Given the description of an element on the screen output the (x, y) to click on. 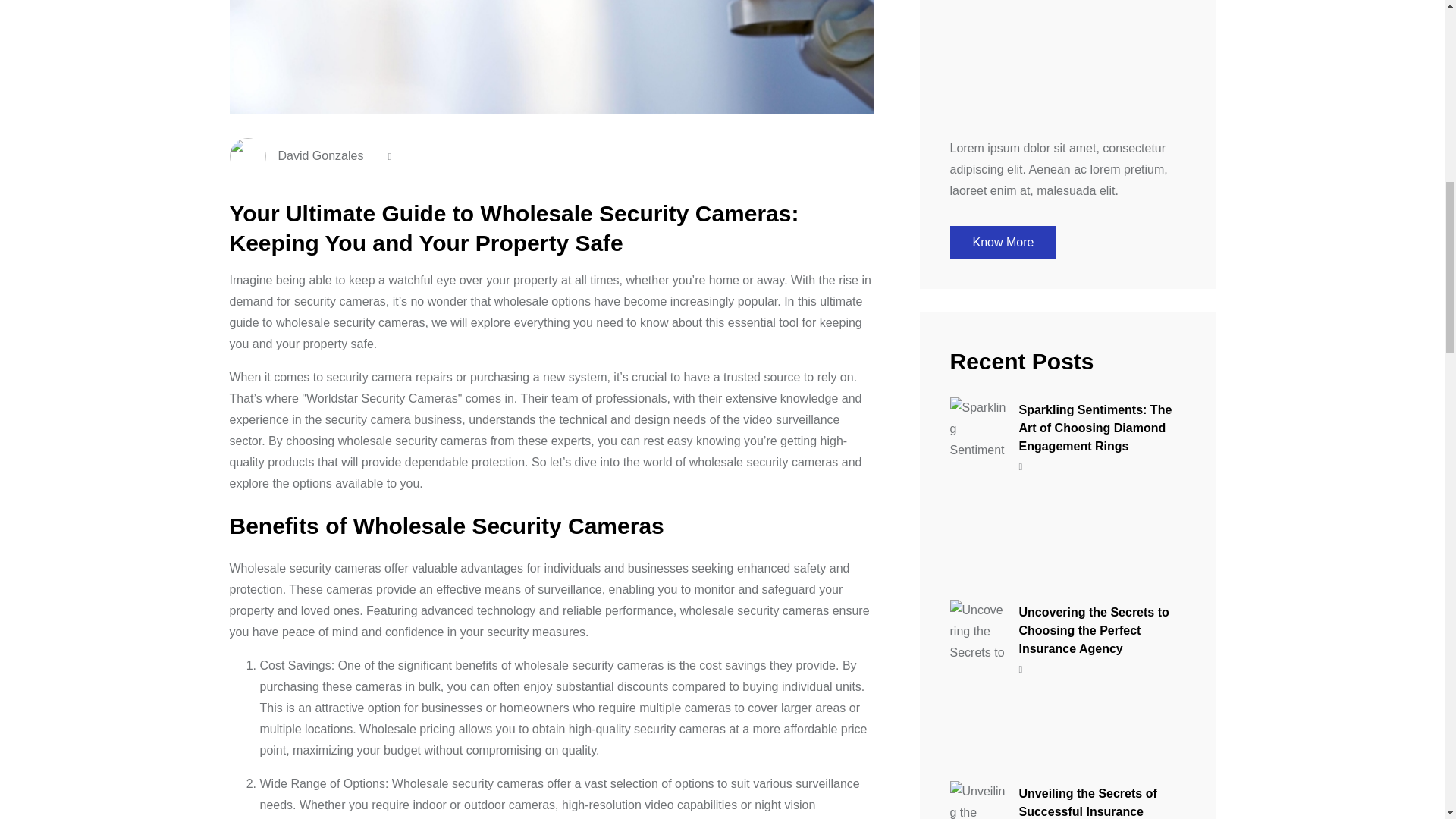
Know More (1003, 242)
